Given the description of an element on the screen output the (x, y) to click on. 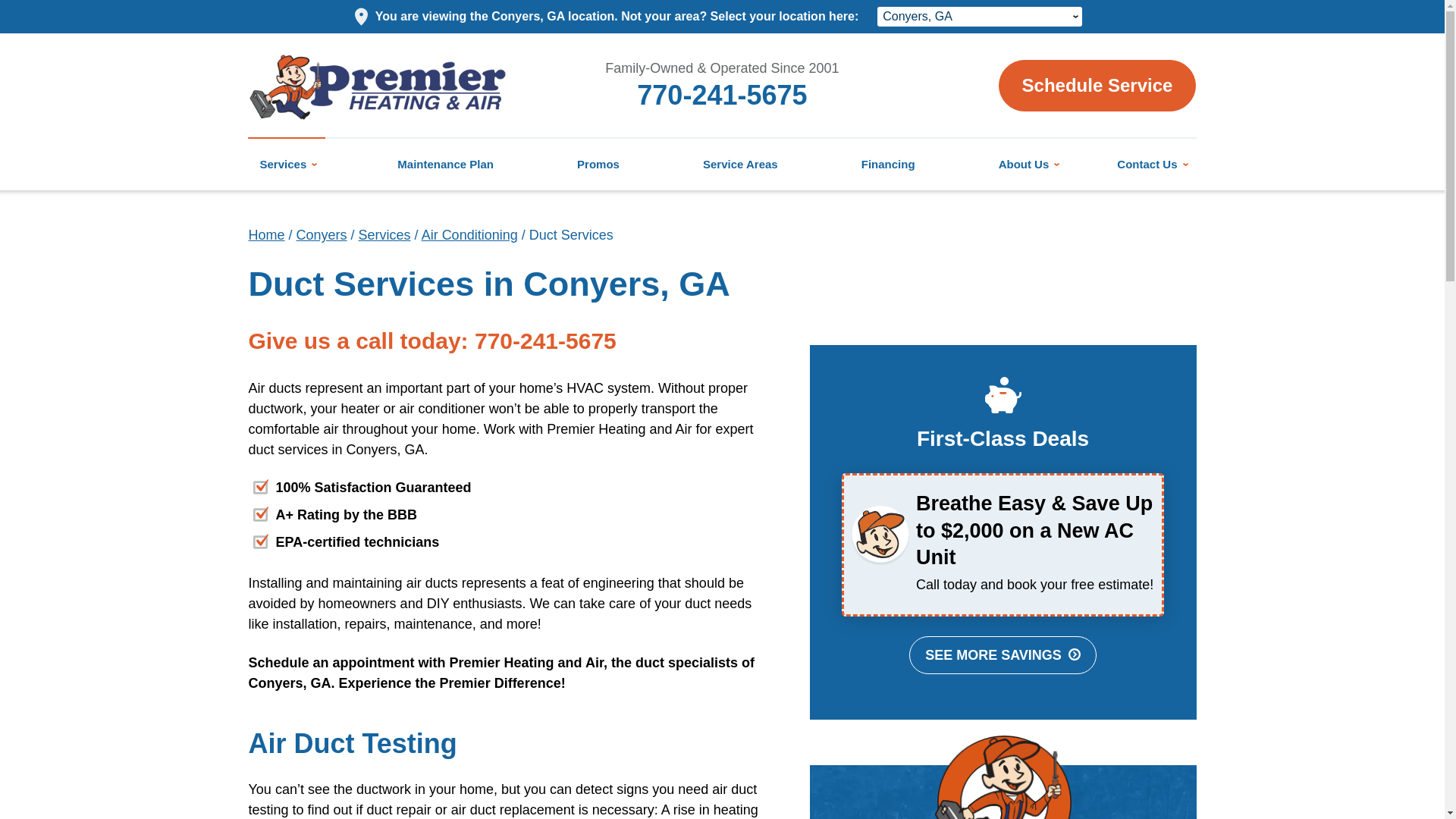
Services (287, 164)
A Team of Licensed Contractors Is Here to Help! (266, 234)
Services in Conyers, GA (384, 234)
Conyers, GA (979, 16)
Air Conditioning in Conyers, GA (470, 234)
Schedule Service (1097, 85)
770-241-5675 (721, 94)
